Given the description of an element on the screen output the (x, y) to click on. 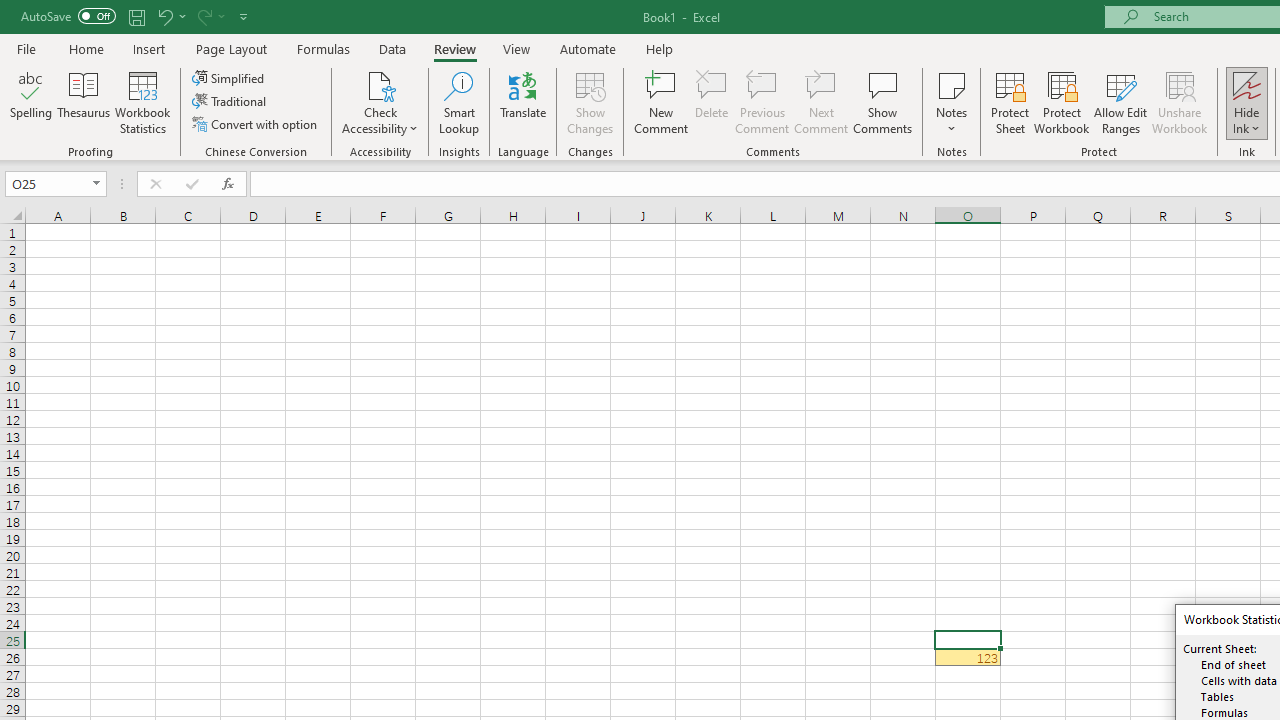
Protect Workbook... (1061, 102)
Convert with option (256, 124)
Smart Lookup (459, 102)
Notes (951, 102)
Translate (523, 102)
